Given the description of an element on the screen output the (x, y) to click on. 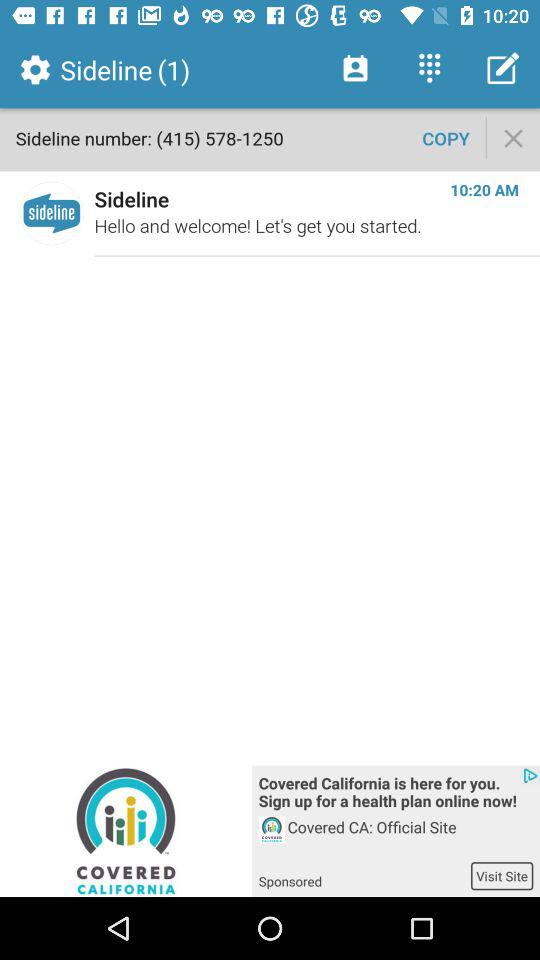
turn off item next to sideline number 415 icon (446, 138)
